Given the description of an element on the screen output the (x, y) to click on. 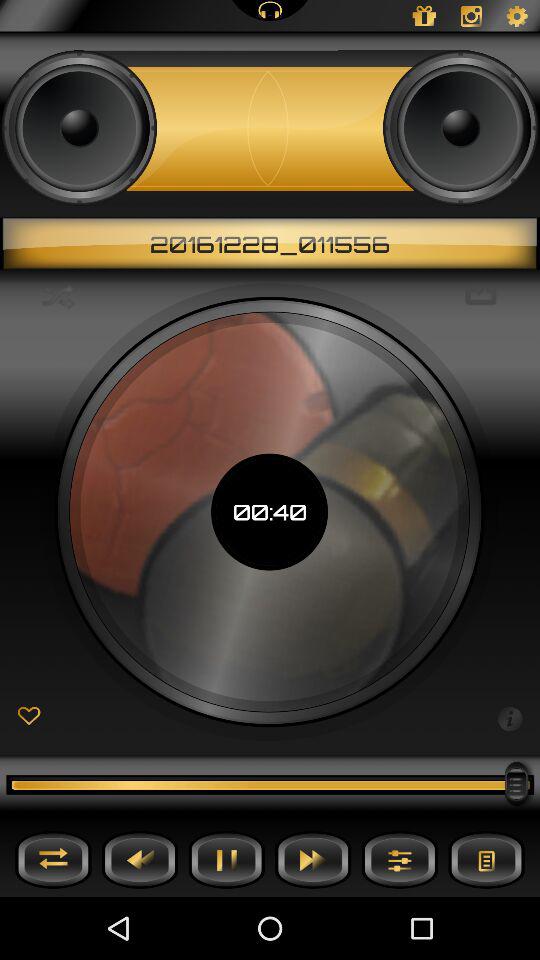
shuffle music (53, 859)
